Given the description of an element on the screen output the (x, y) to click on. 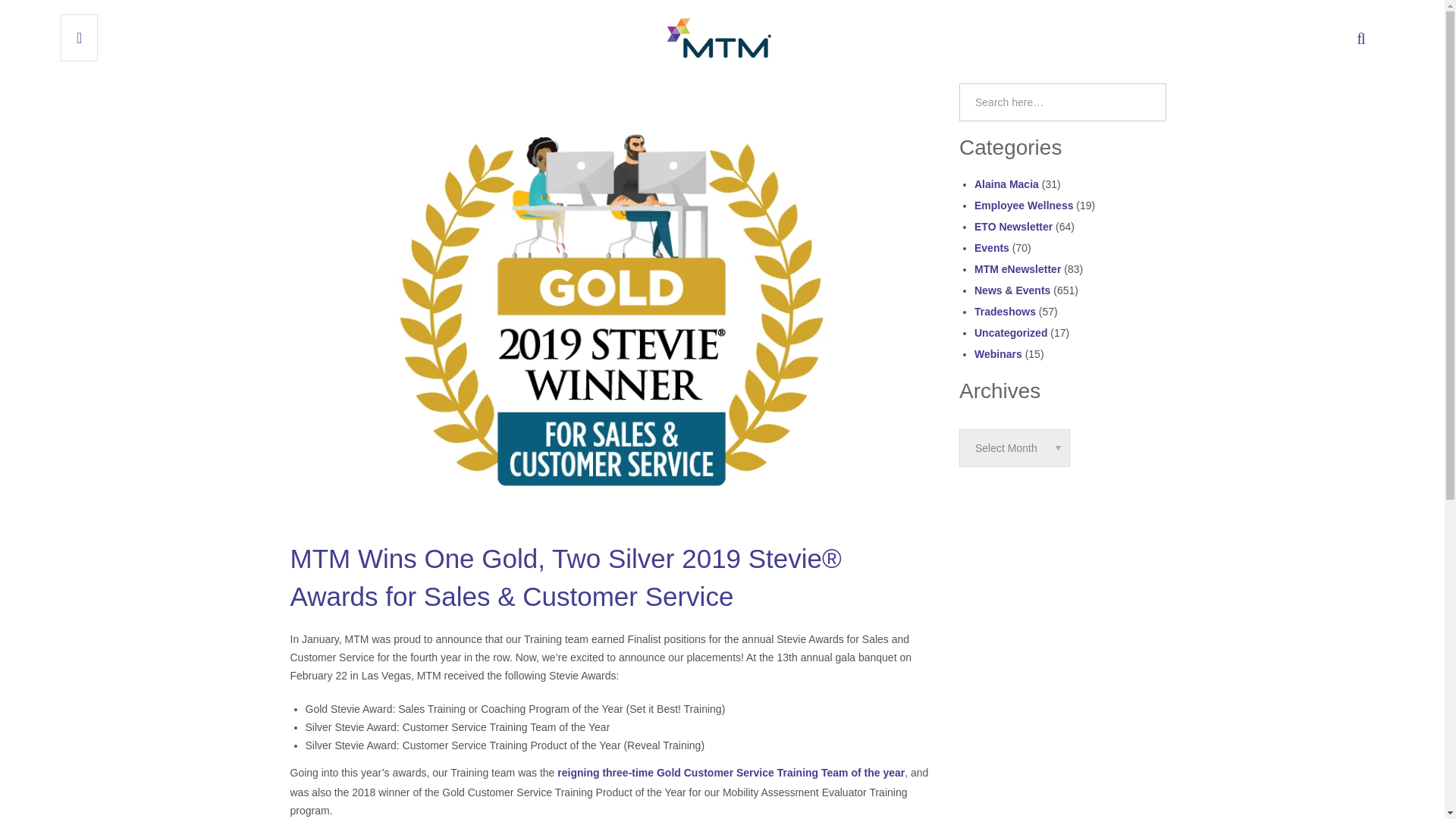
Search for: (1062, 102)
